Given the description of an element on the screen output the (x, y) to click on. 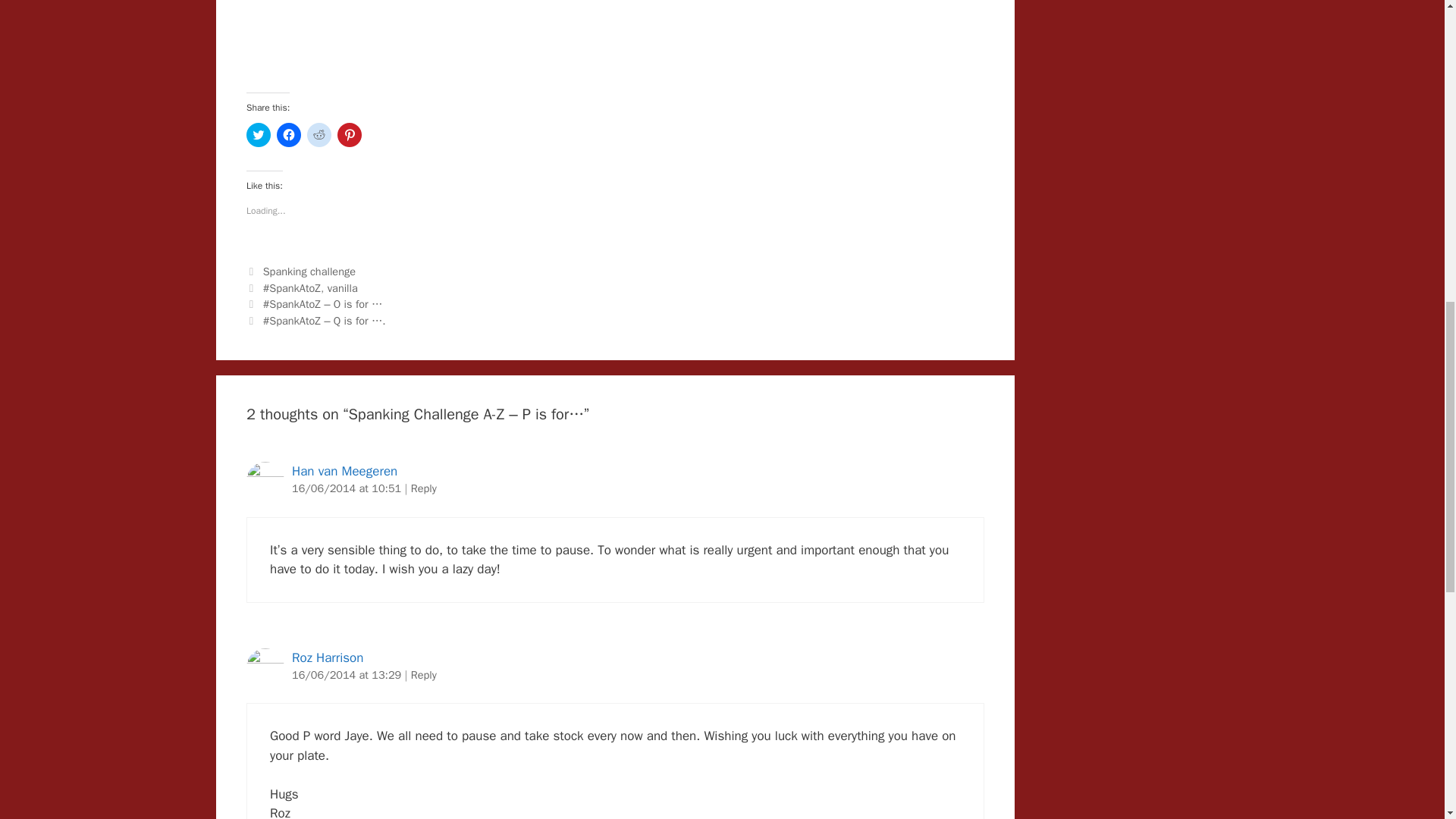
Click to share on Reddit (319, 134)
Next (315, 320)
Click to share on Twitter (258, 134)
Previous (313, 304)
Click to share on Pinterest (349, 134)
Click to share on Facebook (288, 134)
